Given the description of an element on the screen output the (x, y) to click on. 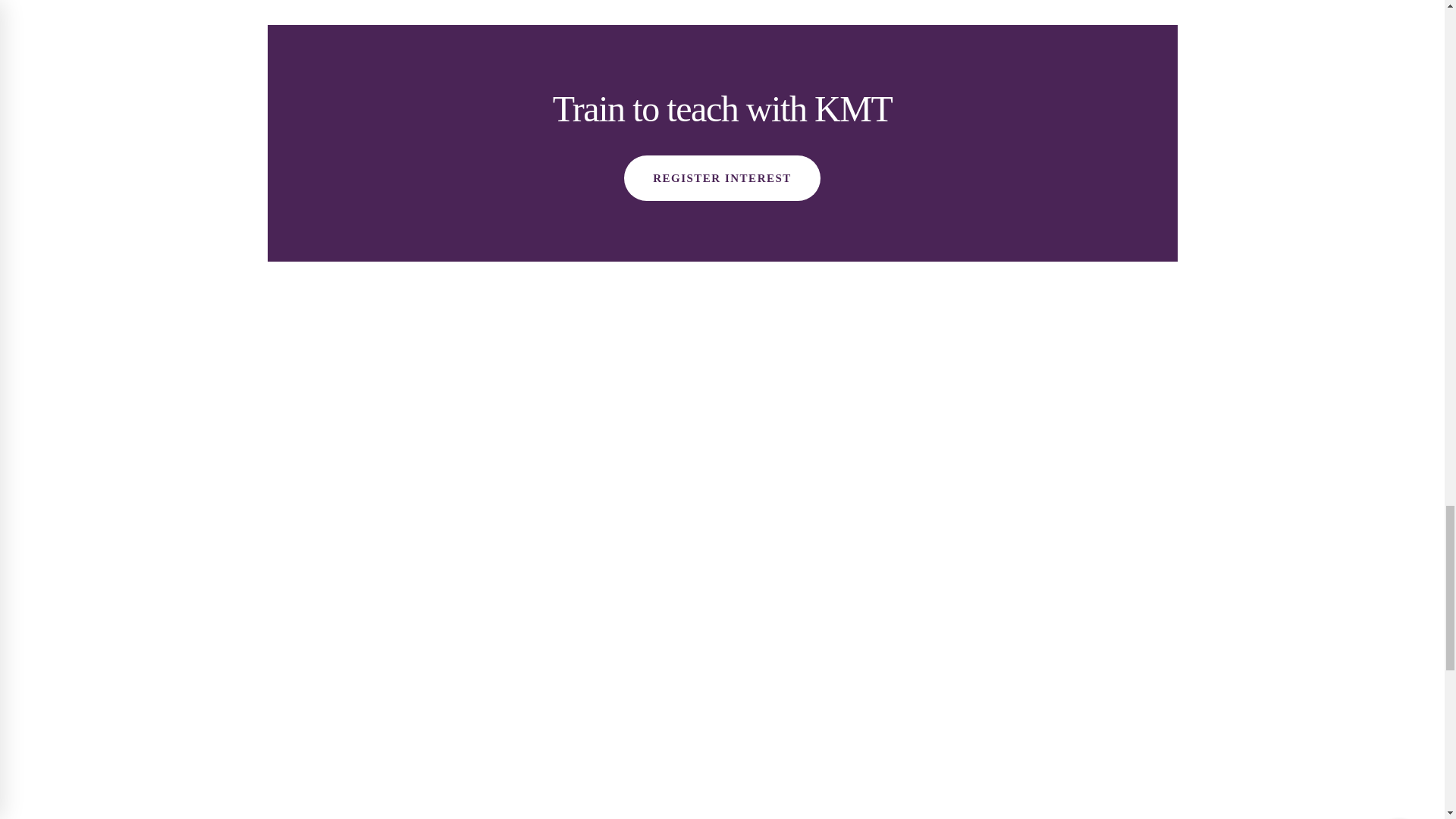
REGISTER INTEREST (722, 177)
